Given the description of an element on the screen output the (x, y) to click on. 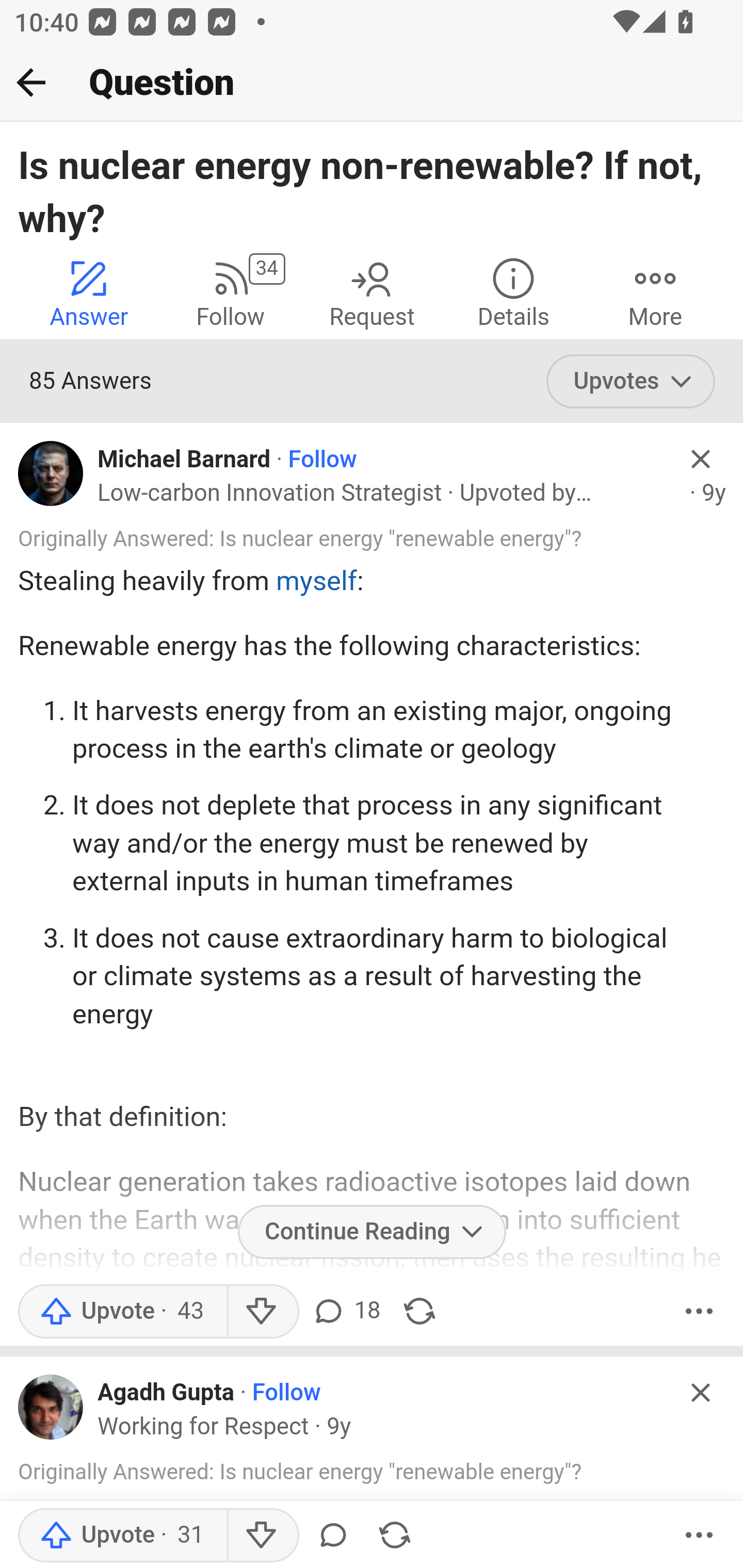
Back Question (371, 82)
Back (30, 82)
Answer (88, 292)
34 Follow (230, 292)
Request (371, 292)
Details (513, 292)
More (655, 292)
Upvotes (630, 381)
Hide (700, 459)
Profile photo for Michael Barnard (50, 473)
Michael Barnard (184, 459)
Follow (321, 459)
9y 9 y (713, 493)
Karl von Kries (169, 526)
Is nuclear energy "renewable energy"? (400, 539)
myself (315, 581)
Continue Reading (371, 1230)
Upvote (122, 1310)
Downvote (262, 1310)
18 comments (345, 1310)
Share (419, 1310)
More (699, 1310)
Hide (700, 1392)
Profile photo for Agadh Gupta (50, 1406)
Agadh Gupta (165, 1393)
Follow (286, 1393)
9y 9 y (338, 1426)
Is nuclear energy "renewable energy"? (400, 1472)
Upvote (122, 1535)
Downvote (262, 1535)
Comment (332, 1535)
Share (394, 1535)
More (699, 1535)
